Given the description of an element on the screen output the (x, y) to click on. 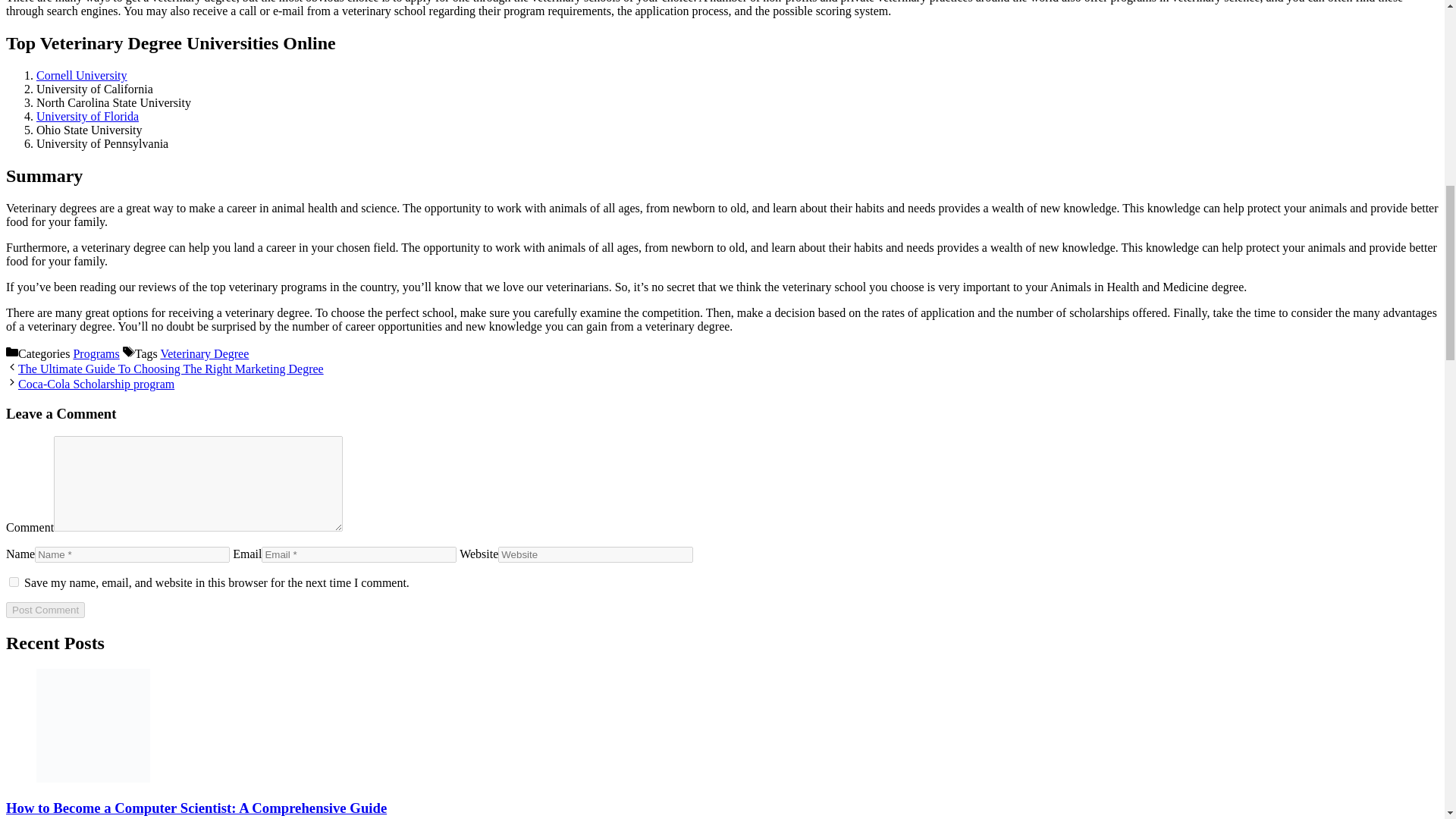
The Ultimate Guide To Choosing The Right Marketing Degree (170, 368)
Programs (95, 353)
Cornell University (82, 74)
Veterinary Degree (204, 353)
University of Florida (87, 115)
yes (13, 582)
Post Comment (44, 609)
Coca-Cola Scholarship program (95, 383)
How to Become a Computer Scientist: A Comprehensive Guide (196, 807)
Post Comment (44, 609)
